Given the description of an element on the screen output the (x, y) to click on. 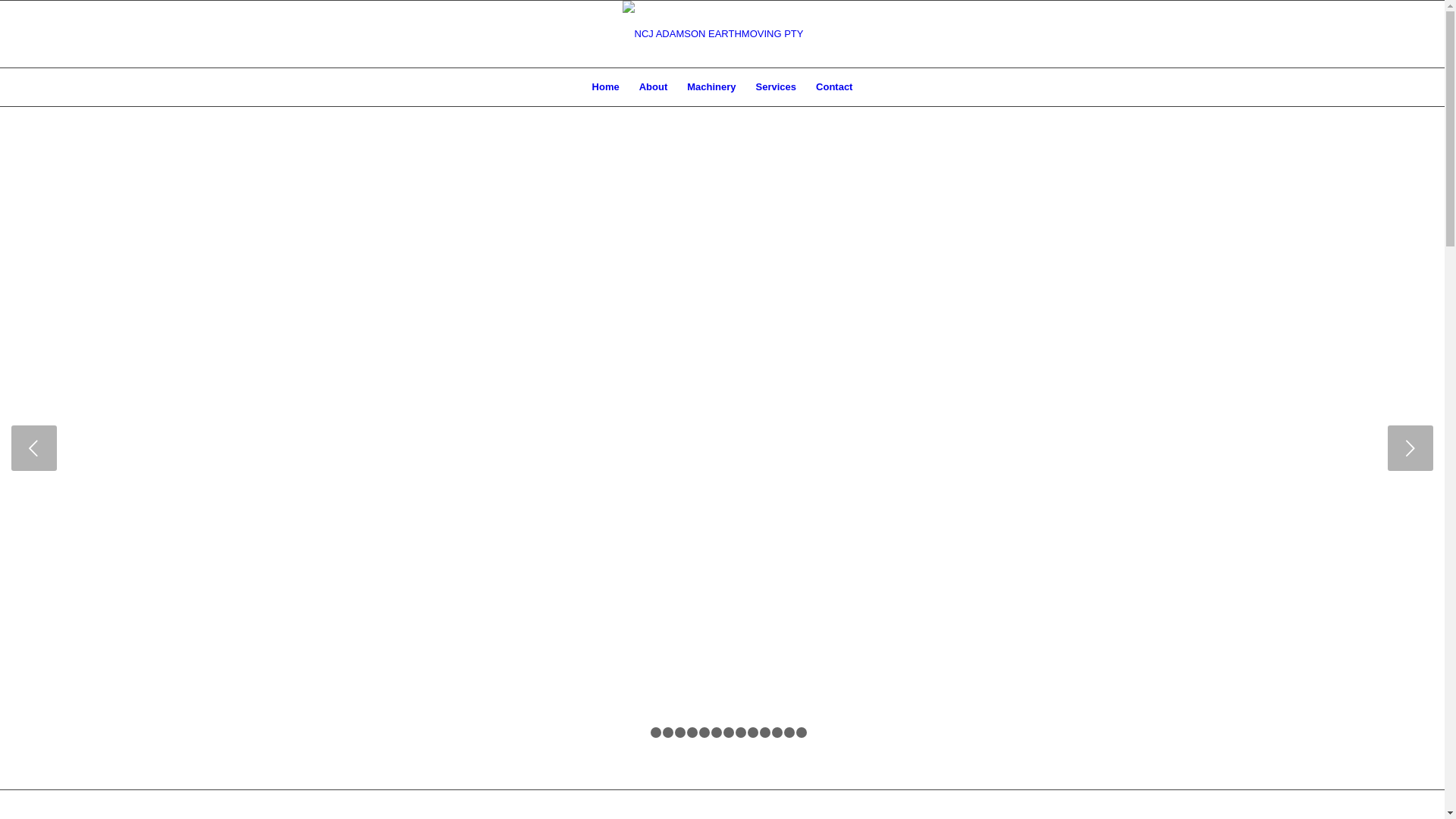
9 Element type: text (740, 732)
ncj adamson earthmoving logo Element type: hover (721, 33)
11 Element type: text (764, 732)
Machinery Element type: text (711, 87)
Home Element type: text (605, 87)
2 Element type: text (655, 732)
Next Element type: text (1410, 447)
Contact Element type: text (834, 87)
Services Element type: text (776, 87)
13 Element type: text (789, 732)
1 Element type: text (643, 732)
5 Element type: text (692, 732)
About Element type: text (653, 87)
Previous Element type: text (33, 447)
3 Element type: text (667, 732)
4 Element type: text (679, 732)
7 Element type: text (716, 732)
10 Element type: text (752, 732)
12 Element type: text (776, 732)
14 Element type: text (801, 732)
8 Element type: text (728, 732)
6 Element type: text (704, 732)
